Given the description of an element on the screen output the (x, y) to click on. 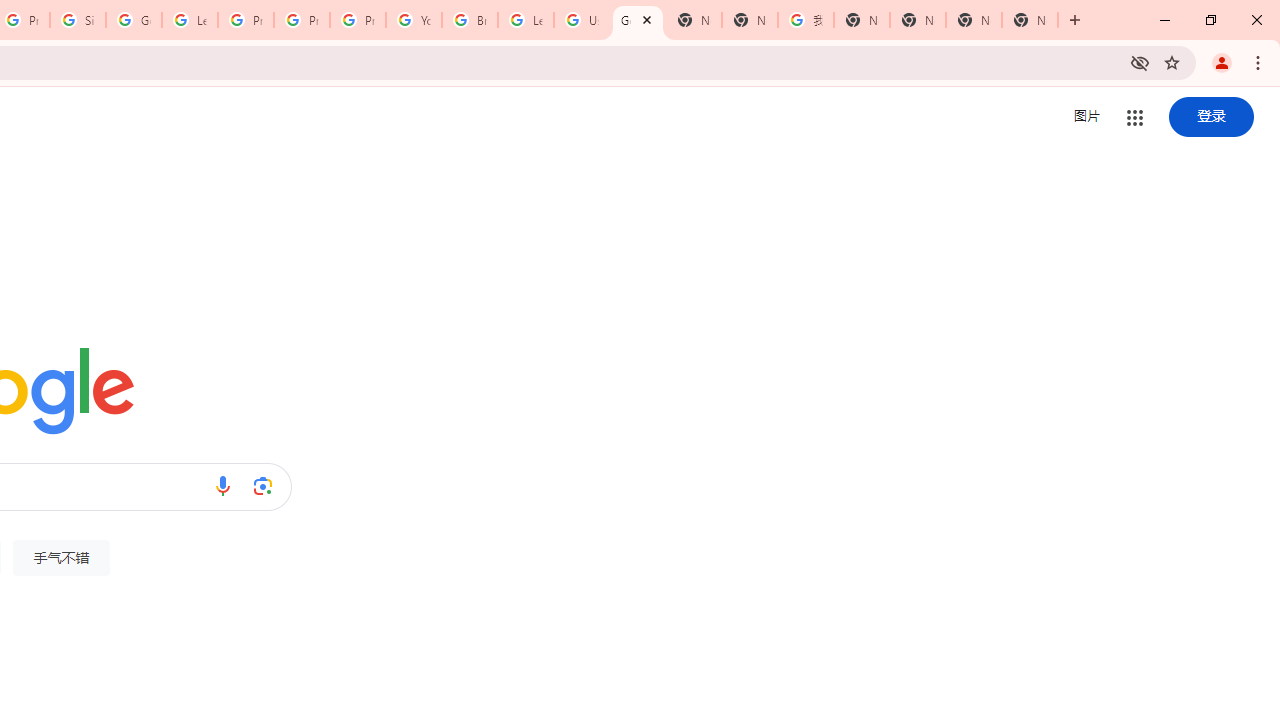
Google (637, 20)
Privacy Help Center - Policies Help (245, 20)
Privacy Help Center - Policies Help (301, 20)
